Given the description of an element on the screen output the (x, y) to click on. 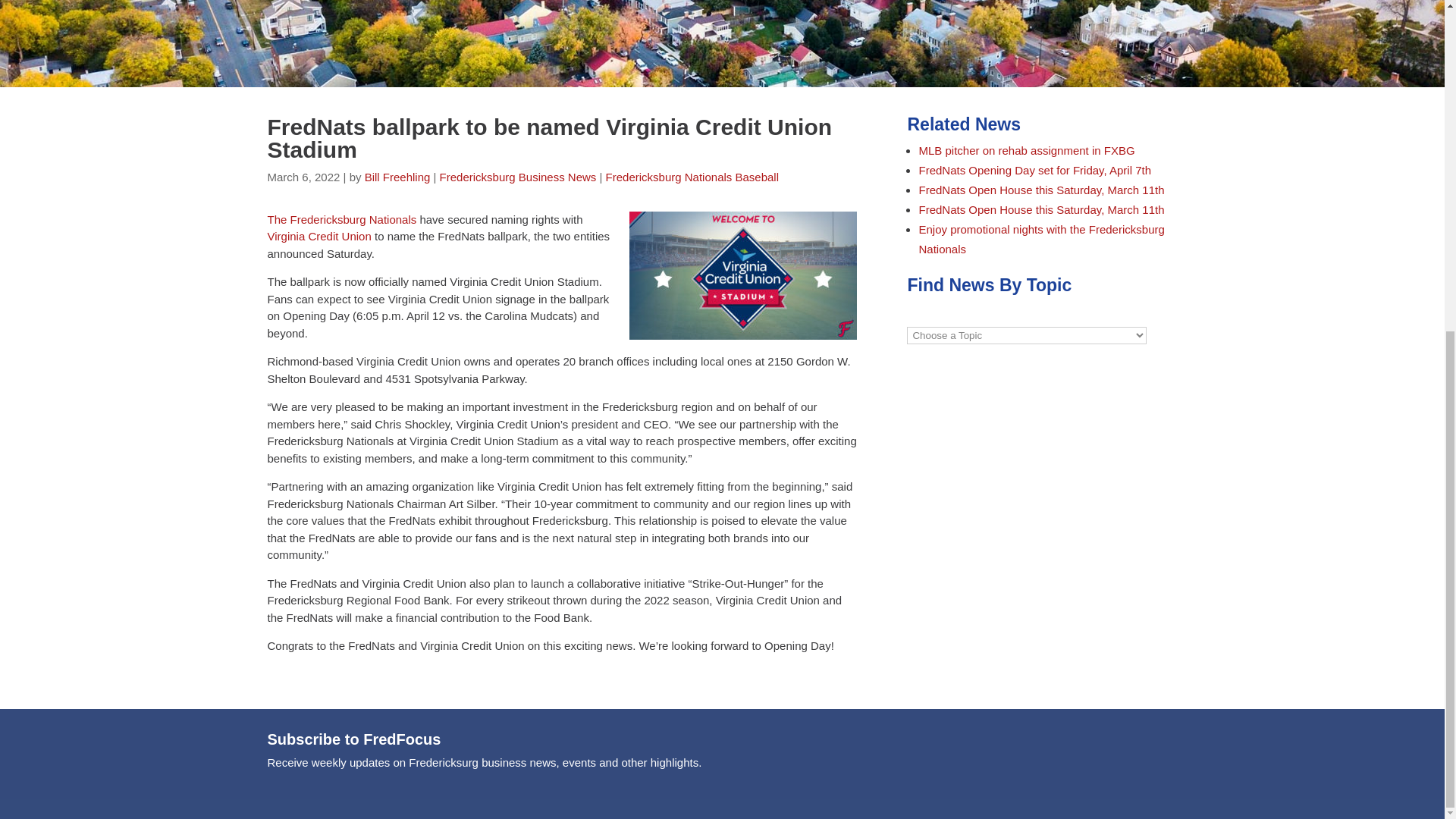
Posts by Bill Freehling (397, 176)
FredNats Opening Day set for Friday, April 7th (1034, 169)
MLB pitcher on rehab assignment in FXBG (1026, 150)
Virginia Credit Union (318, 236)
Enjoy promotional nights with the Fredericksburg Nationals (1040, 238)
The Fredericksburg Nationals (341, 219)
Fredericksburg Business News (517, 176)
Fredericksburg Nationals Baseball (691, 176)
FredNats Open House this Saturday, March 11th (1040, 189)
FredNats Open House this Saturday, March 11th (1040, 209)
Bill Freehling (397, 176)
